Given the description of an element on the screen output the (x, y) to click on. 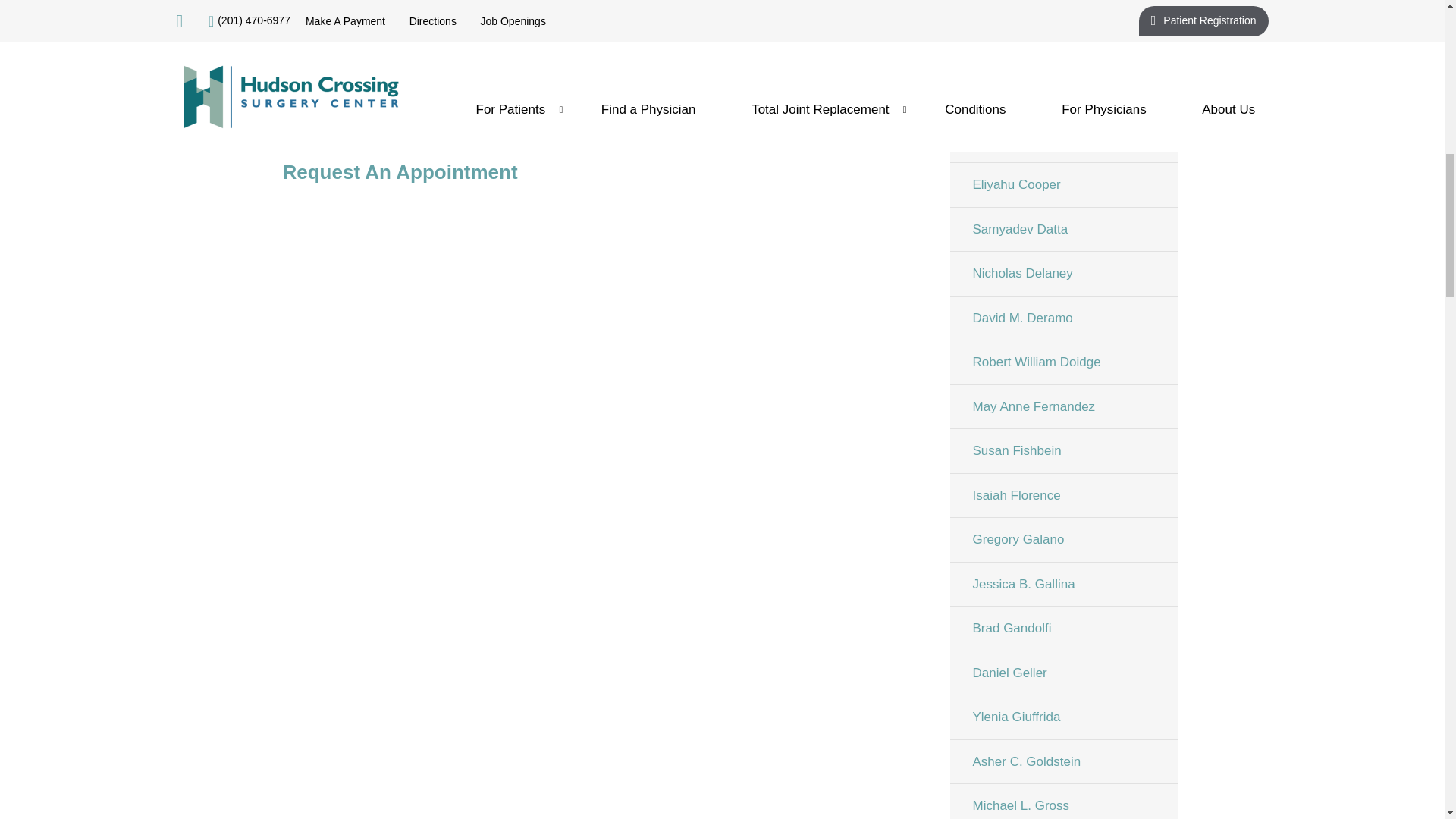
www.drcarlguterman.com (480, 93)
